Given the description of an element on the screen output the (x, y) to click on. 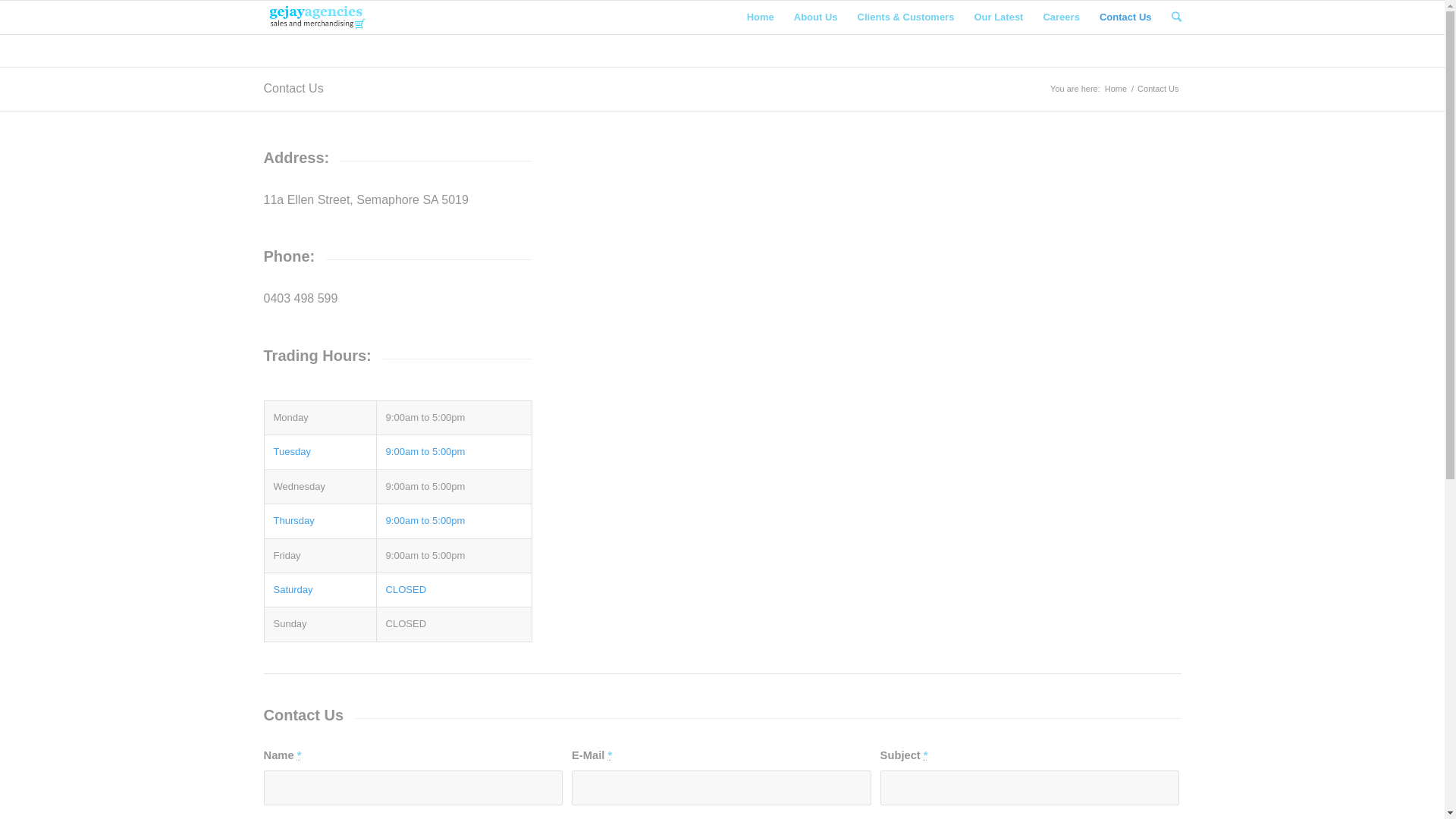
Contact Us Element type: text (293, 87)
Careers Element type: text (1060, 17)
About Us Element type: text (815, 17)
Our Latest Element type: text (997, 17)
Home Element type: text (760, 17)
Contact Us Element type: text (1125, 17)
Home Element type: text (1115, 88)
Clients & Customers Element type: text (905, 17)
